Given the description of an element on the screen output the (x, y) to click on. 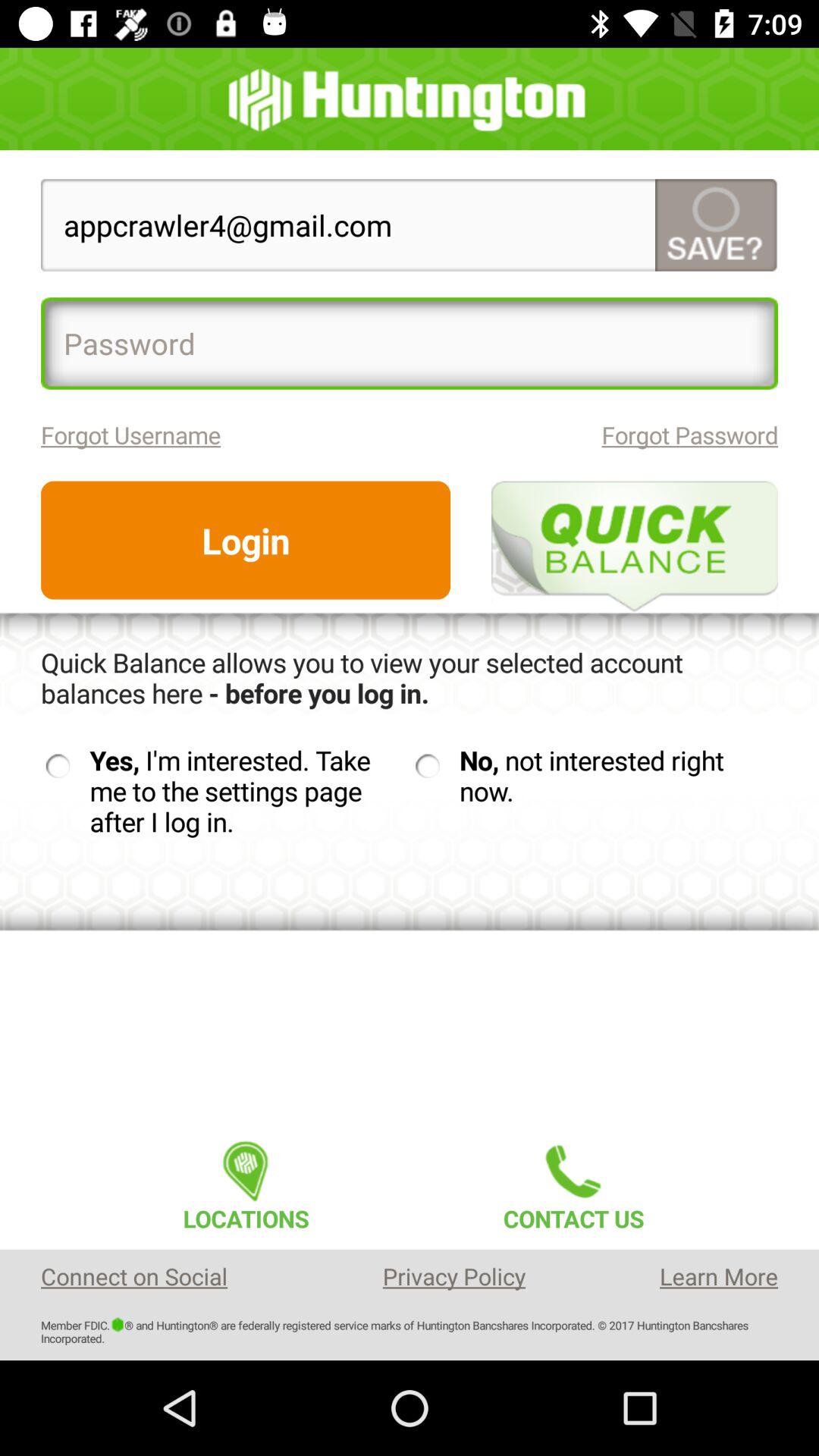
swipe to contact us (573, 1181)
